Given the description of an element on the screen output the (x, y) to click on. 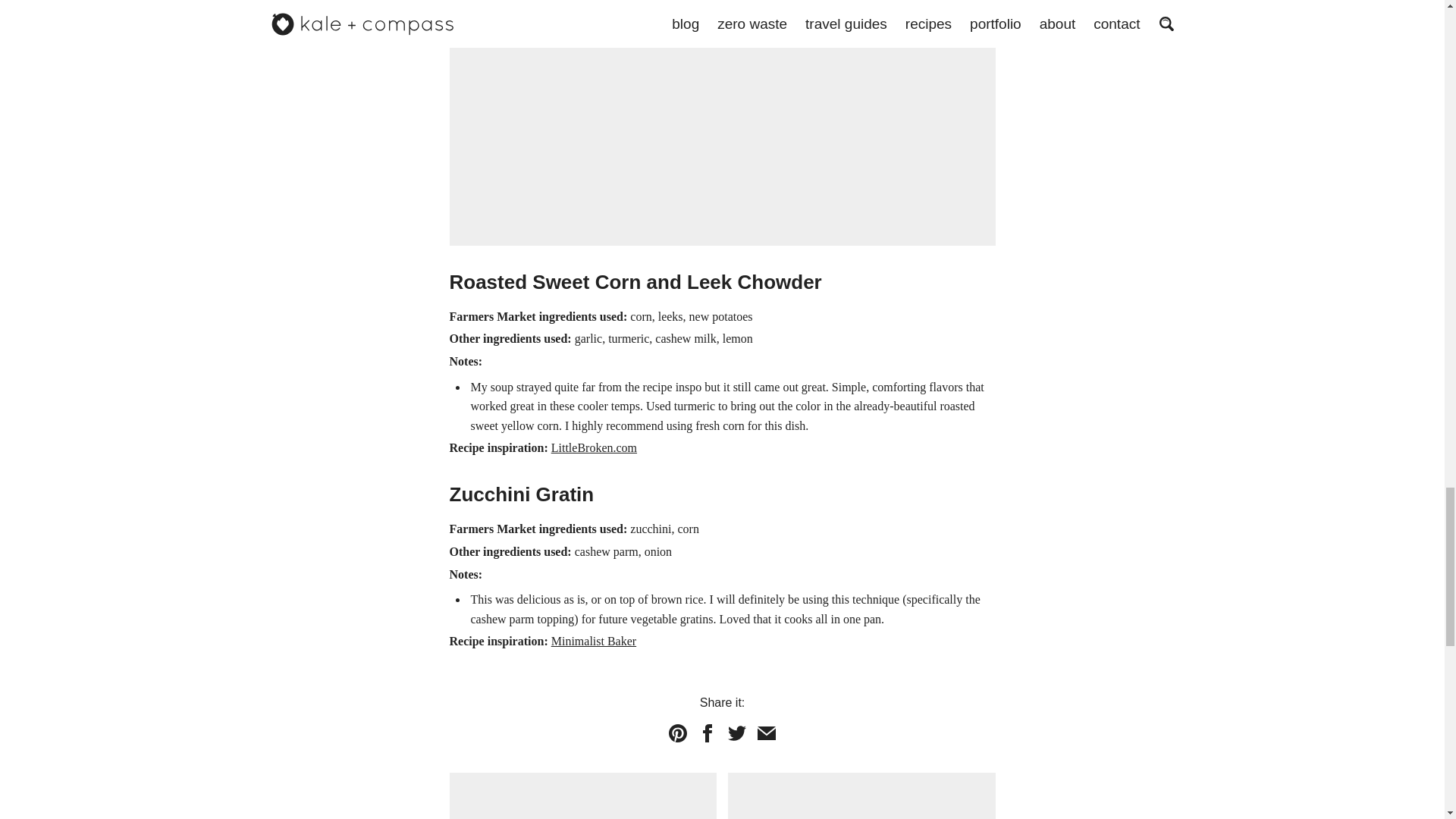
LittleBroken.com (861, 796)
Minimalist Baker (594, 447)
